Given the description of an element on the screen output the (x, y) to click on. 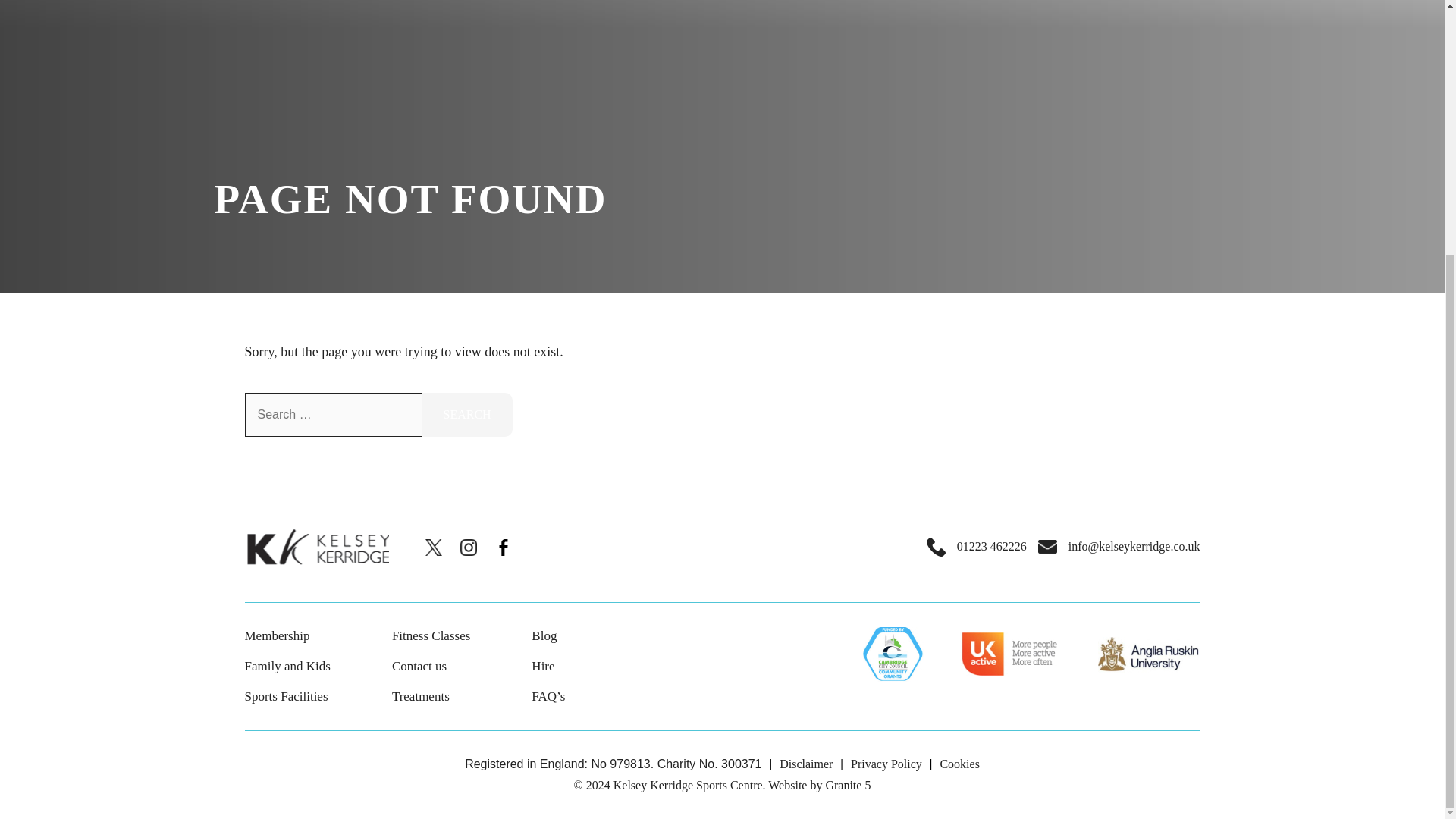
Search (467, 414)
Search (467, 414)
Search for: (333, 414)
